Given the description of an element on the screen output the (x, y) to click on. 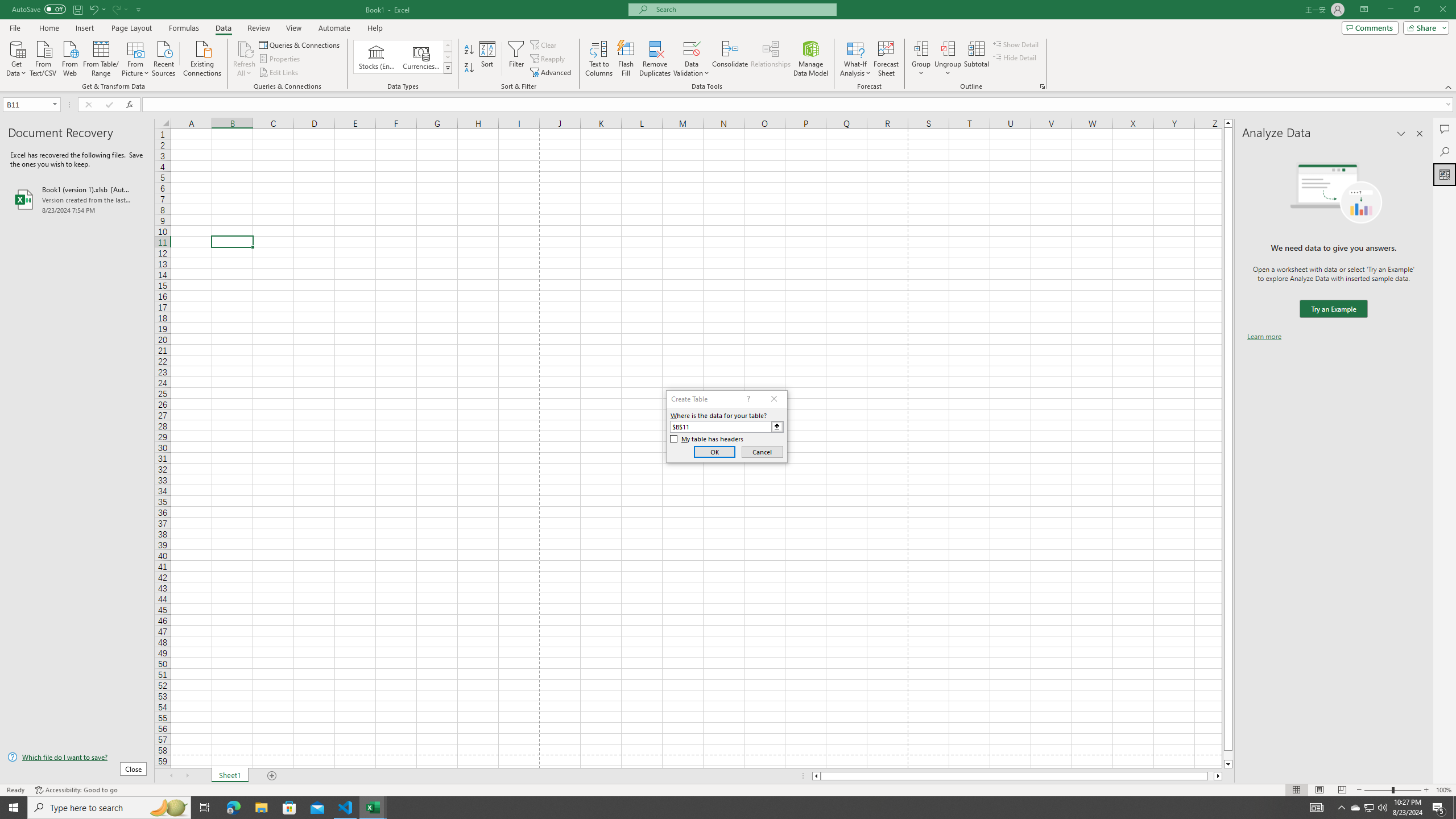
Consolidate... (729, 58)
